Given the description of an element on the screen output the (x, y) to click on. 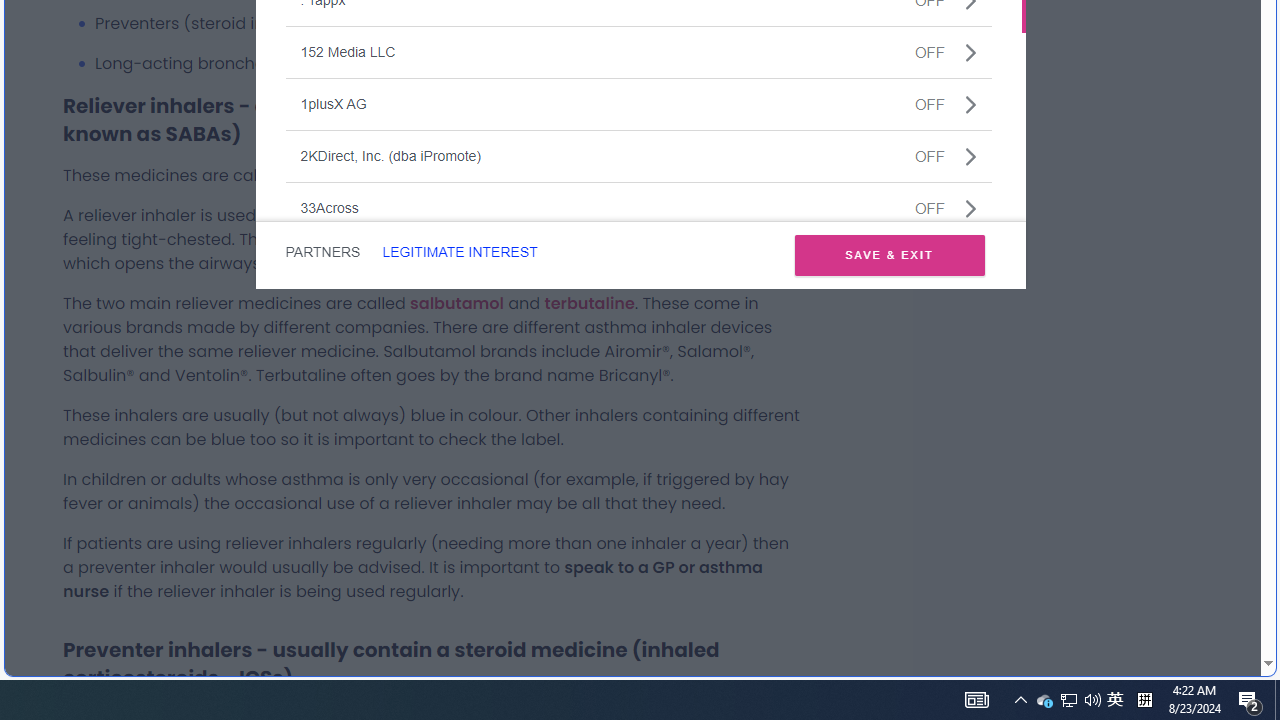
Long-acting bronchodilators. (448, 63)
Preventers (steroid inhalers). (448, 23)
terbutaline (589, 302)
1plusX AGOFF (638, 103)
SAVE & EXIT (889, 254)
Class: css-jswnc6 (969, 208)
33AcrossOFF (638, 208)
152 Media LLCOFF (638, 52)
salbutamol (456, 302)
2KDirect, Inc. (dba iPromote)OFF (638, 155)
LEGITIMATE INTEREST (459, 251)
PARTNERS (322, 251)
